Given the description of an element on the screen output the (x, y) to click on. 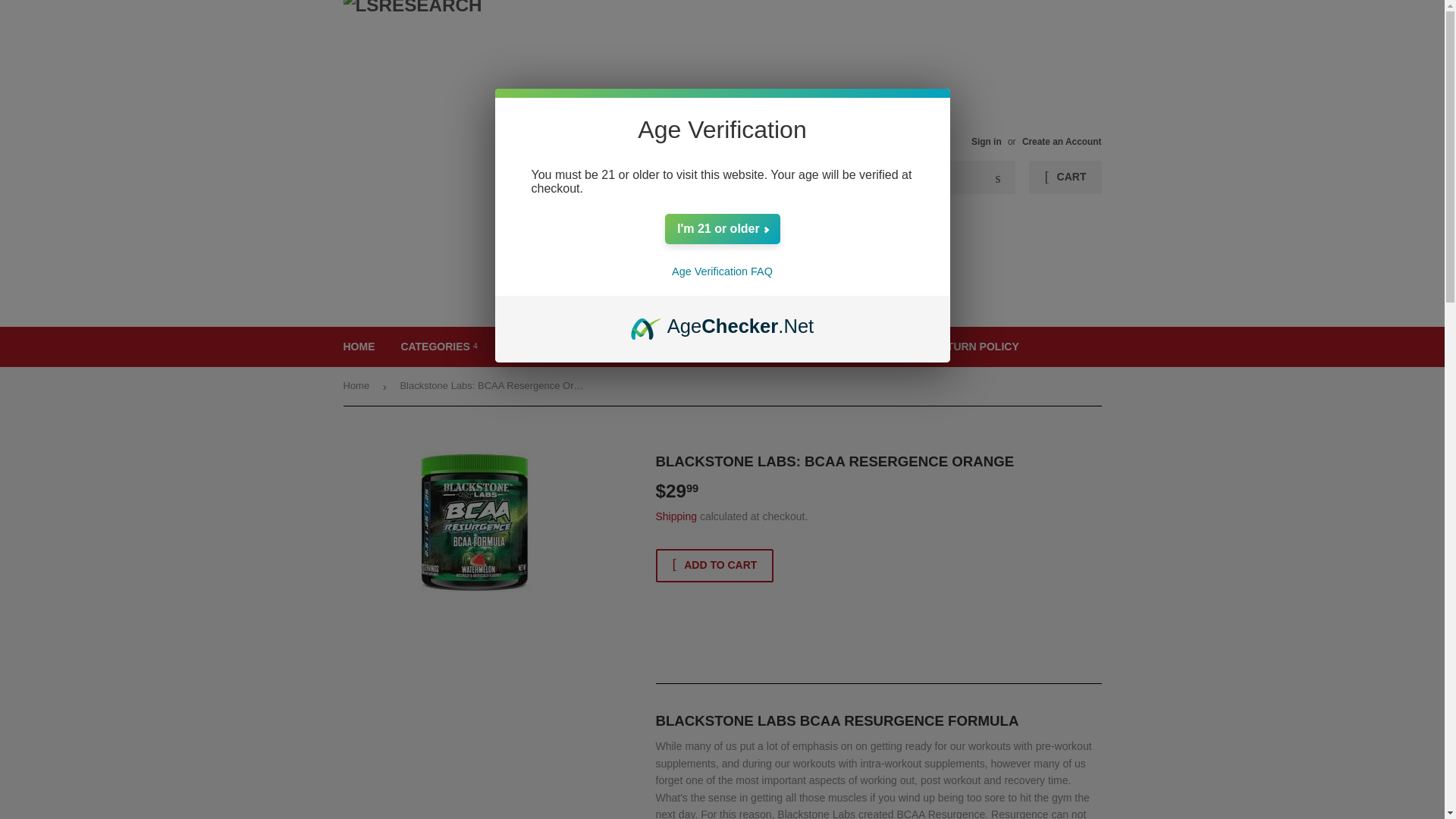
Search (997, 178)
CART (1064, 177)
HOME (359, 346)
Create an Account (1062, 141)
Sign in (986, 141)
CATEGORIES (437, 346)
